Given the description of an element on the screen output the (x, y) to click on. 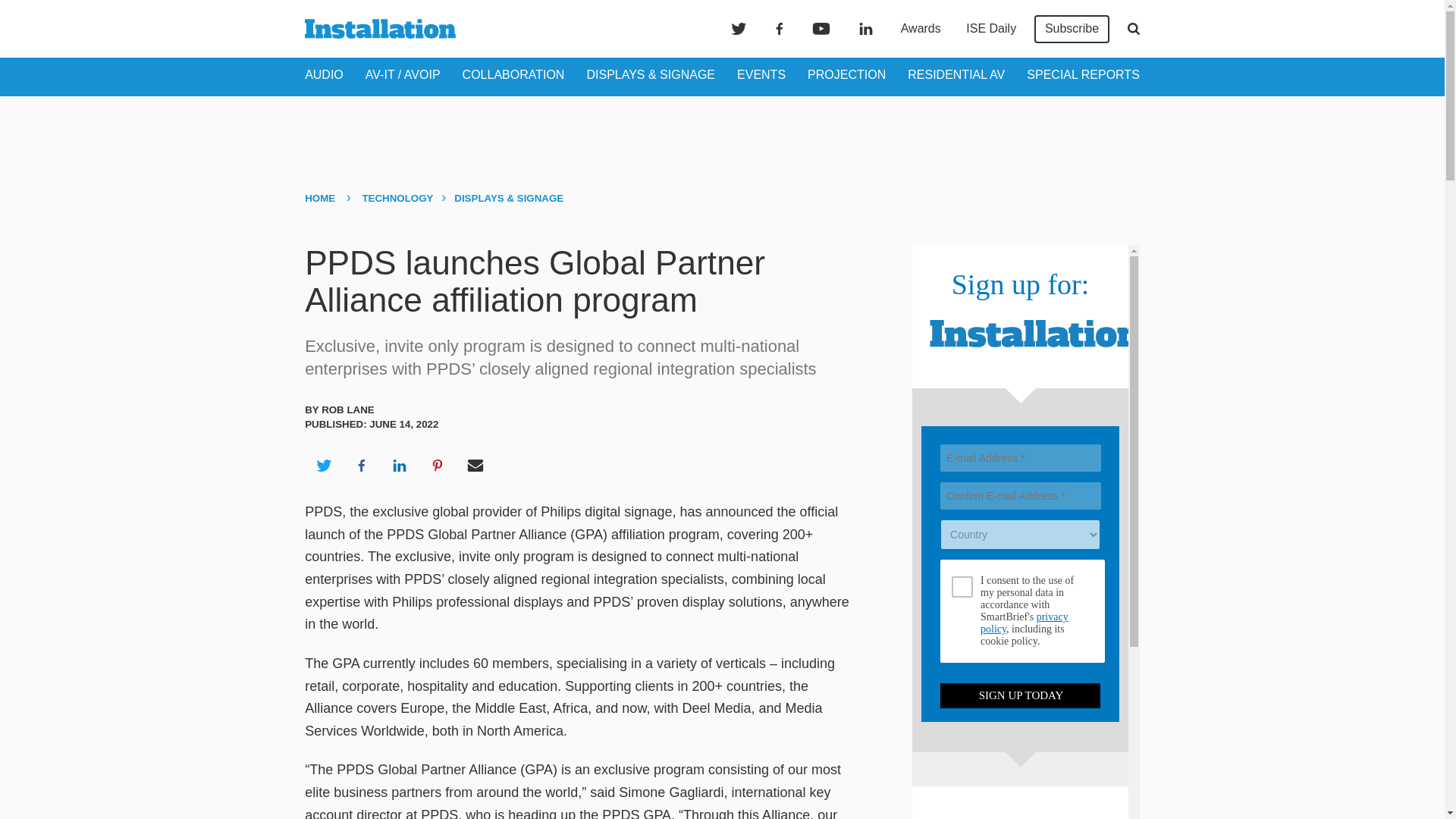
COLLABORATION (513, 74)
Share on Twitter (323, 465)
Share on Facebook (361, 465)
ISE Daily (990, 29)
Share on LinkedIn (399, 465)
AUDIO (323, 74)
Share on Pinterest (438, 465)
Subscribe (1071, 29)
Awards (921, 29)
Share via Email (476, 465)
Rob Lane's Author Profile (347, 409)
